Given the description of an element on the screen output the (x, y) to click on. 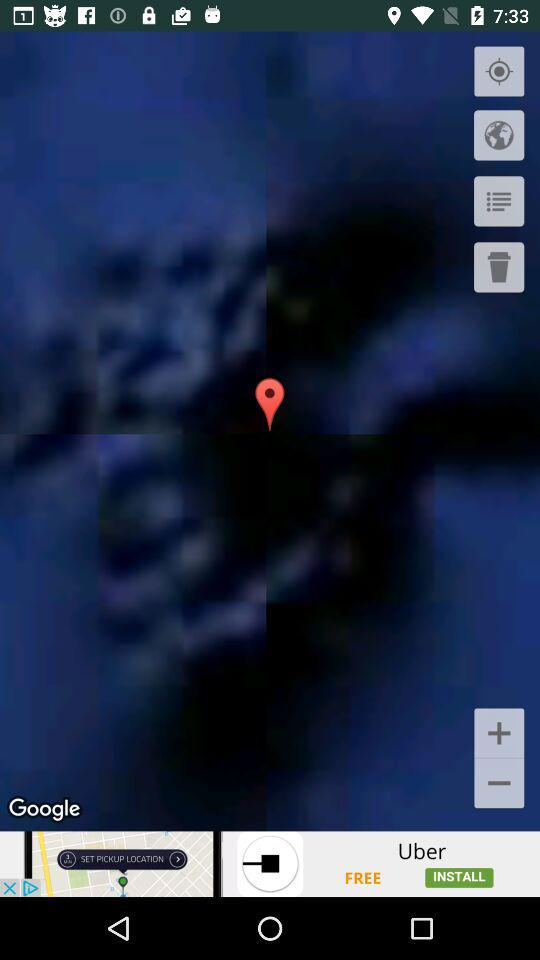
app advertisement option (270, 864)
